Given the description of an element on the screen output the (x, y) to click on. 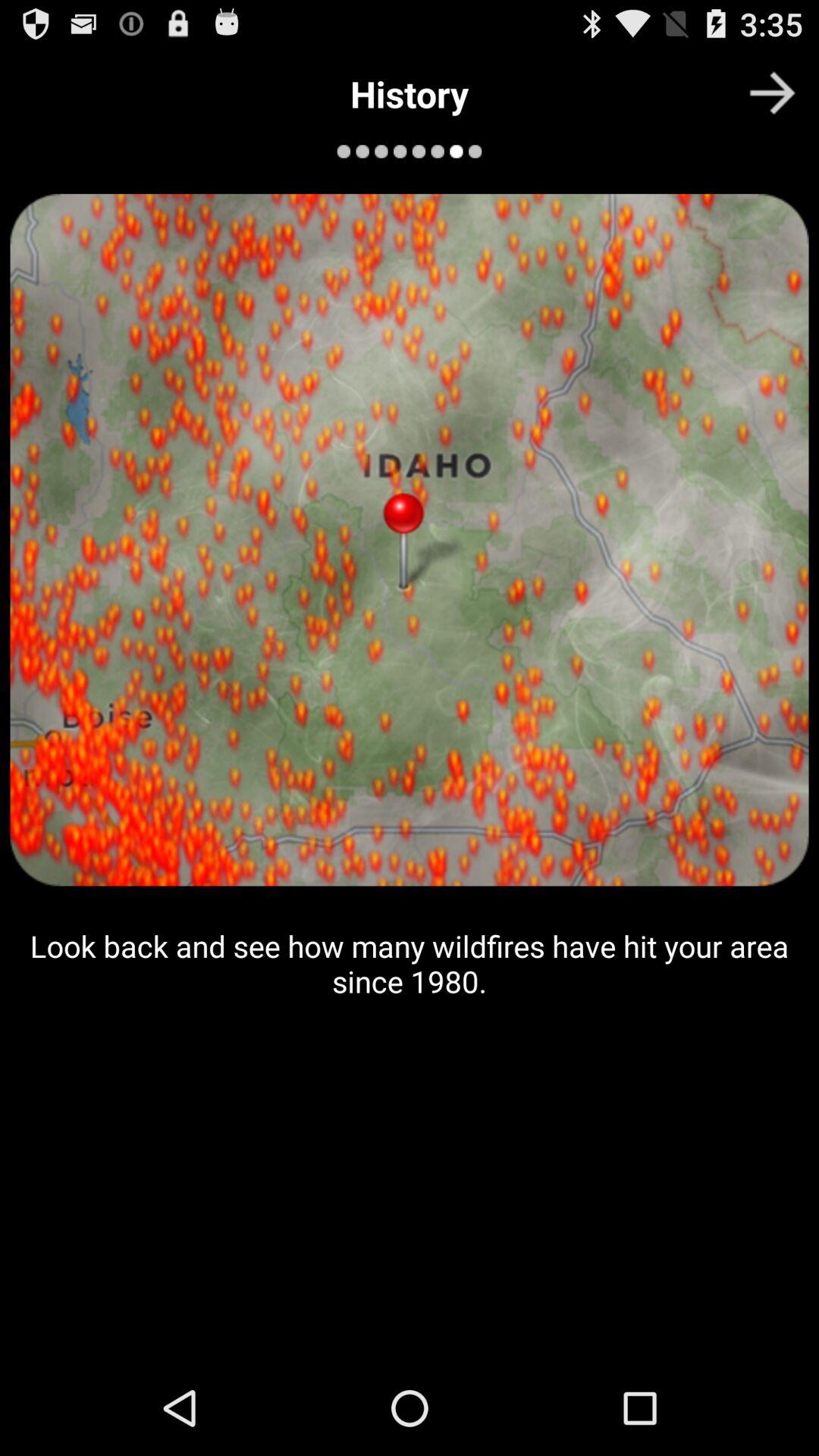
choose the item at the top right corner (772, 92)
